Given the description of an element on the screen output the (x, y) to click on. 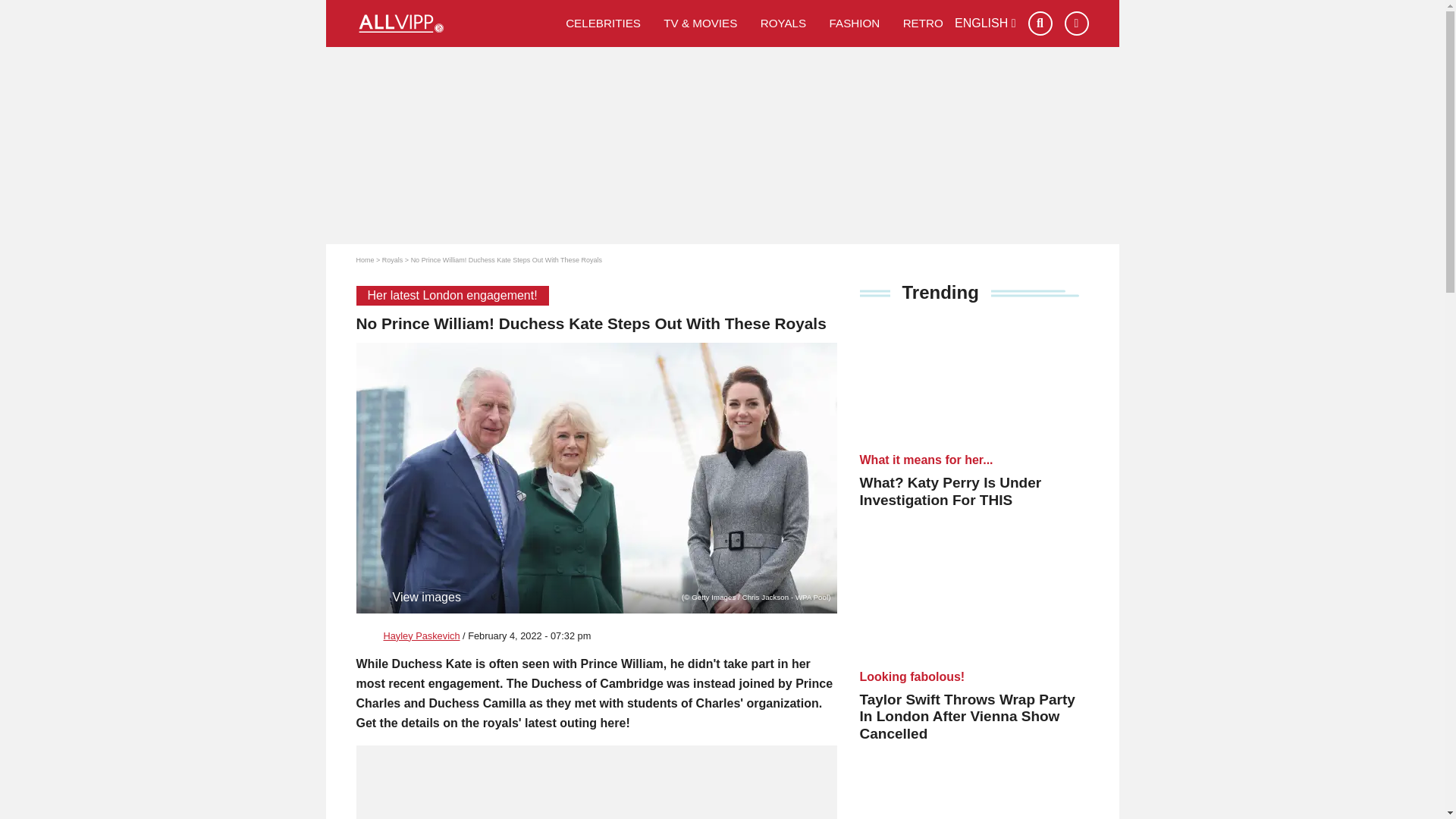
Search (1039, 23)
ENGLISH  (985, 22)
Retro (923, 23)
ROYALS (783, 23)
CELEBRITIES (603, 23)
Home (365, 259)
Fashion (853, 23)
Celebrities (603, 23)
Royals (783, 23)
VIP News I Up close with your favorite Celebs on Allvipp.com (455, 23)
